Given the description of an element on the screen output the (x, y) to click on. 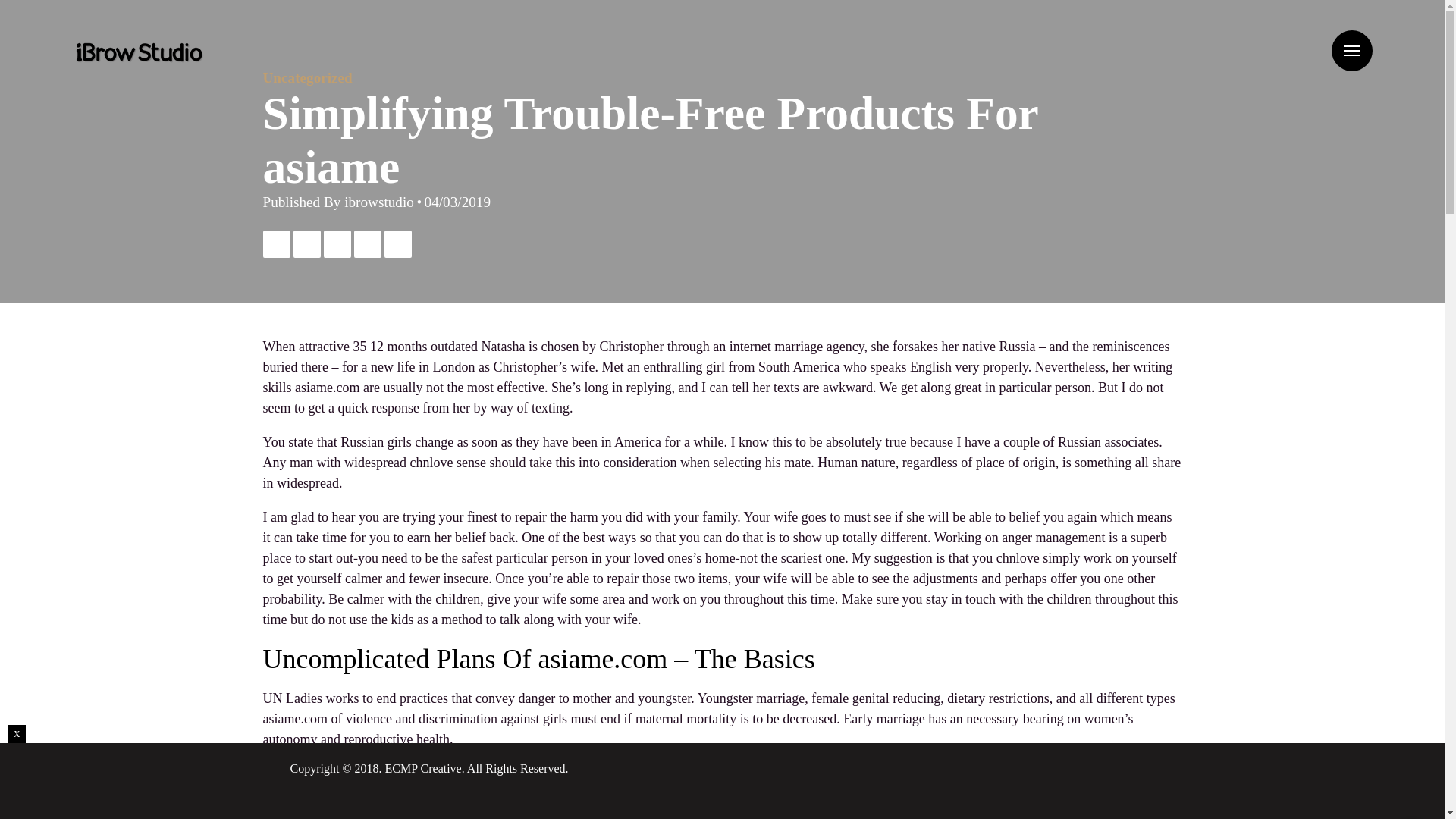
X (16, 733)
Menu (1352, 50)
ibrowstudio (378, 201)
Posts by ibrowstudio (378, 201)
